Given the description of an element on the screen output the (x, y) to click on. 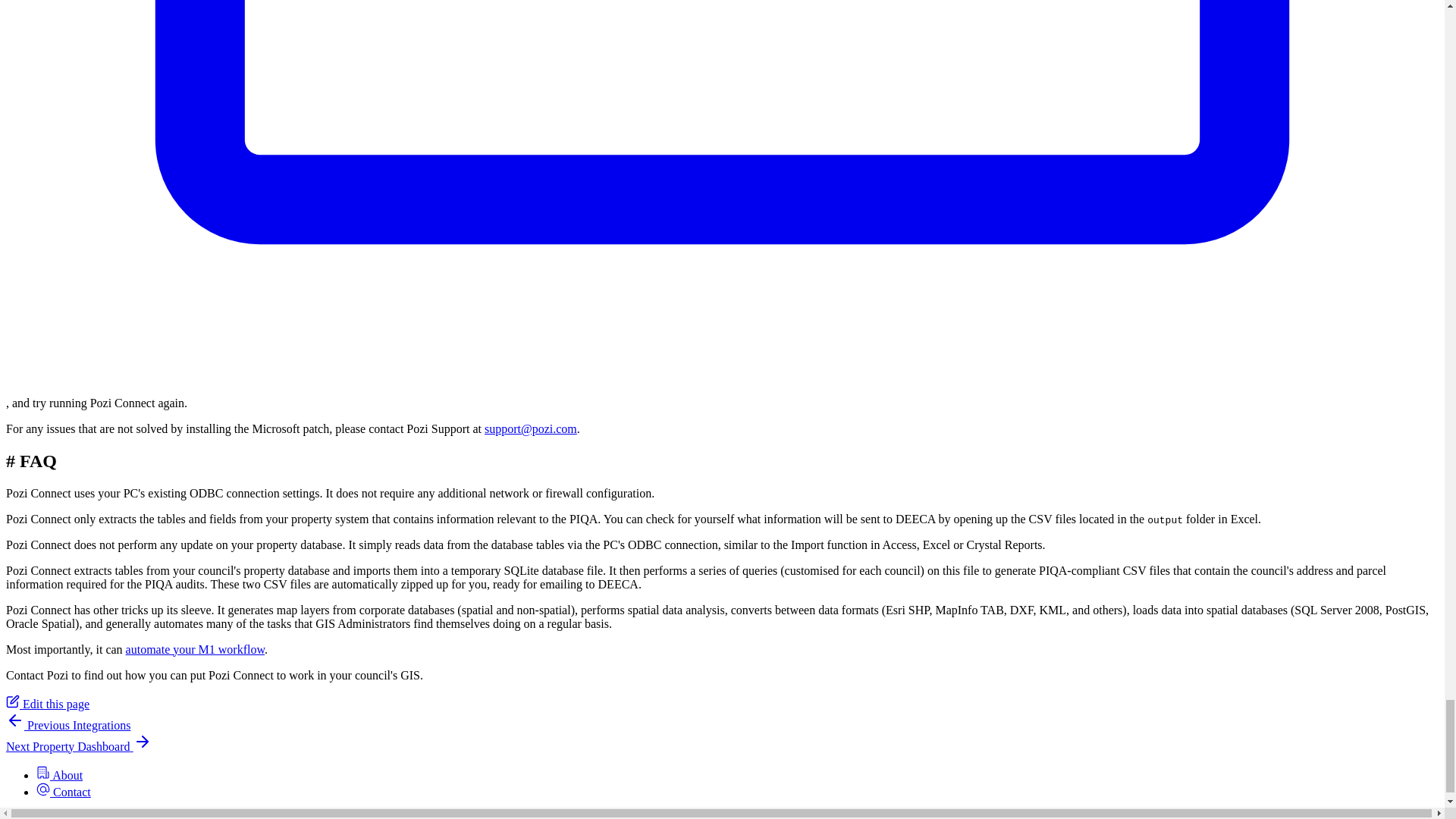
automate your M1 workflow (194, 649)
Previous Integrations (68, 725)
Edit this page (46, 703)
About (59, 775)
Contact (63, 791)
Next Property Dashboard (78, 746)
